Given the description of an element on the screen output the (x, y) to click on. 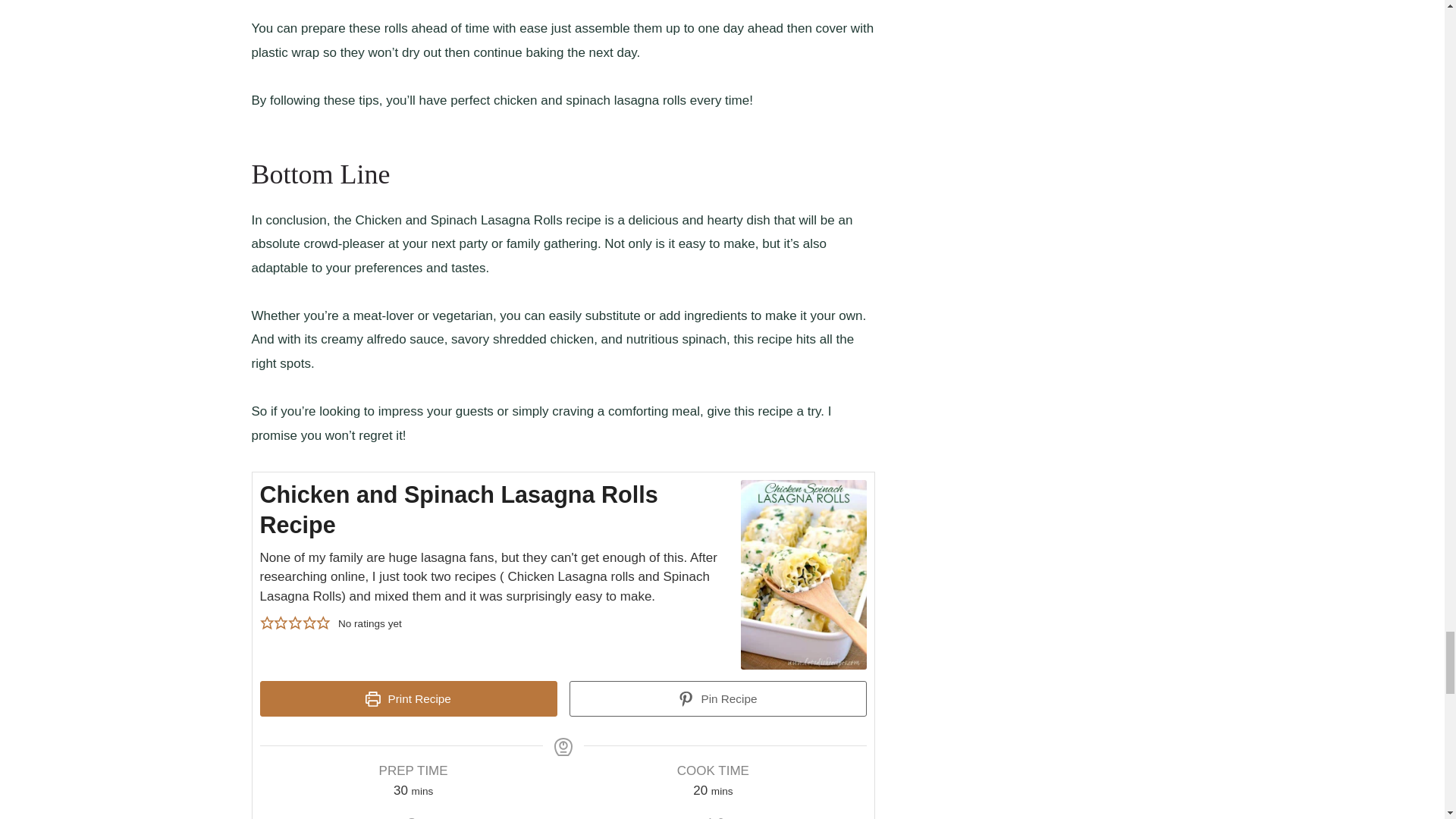
Print Recipe (407, 698)
Pin Recipe (717, 698)
